Given the description of an element on the screen output the (x, y) to click on. 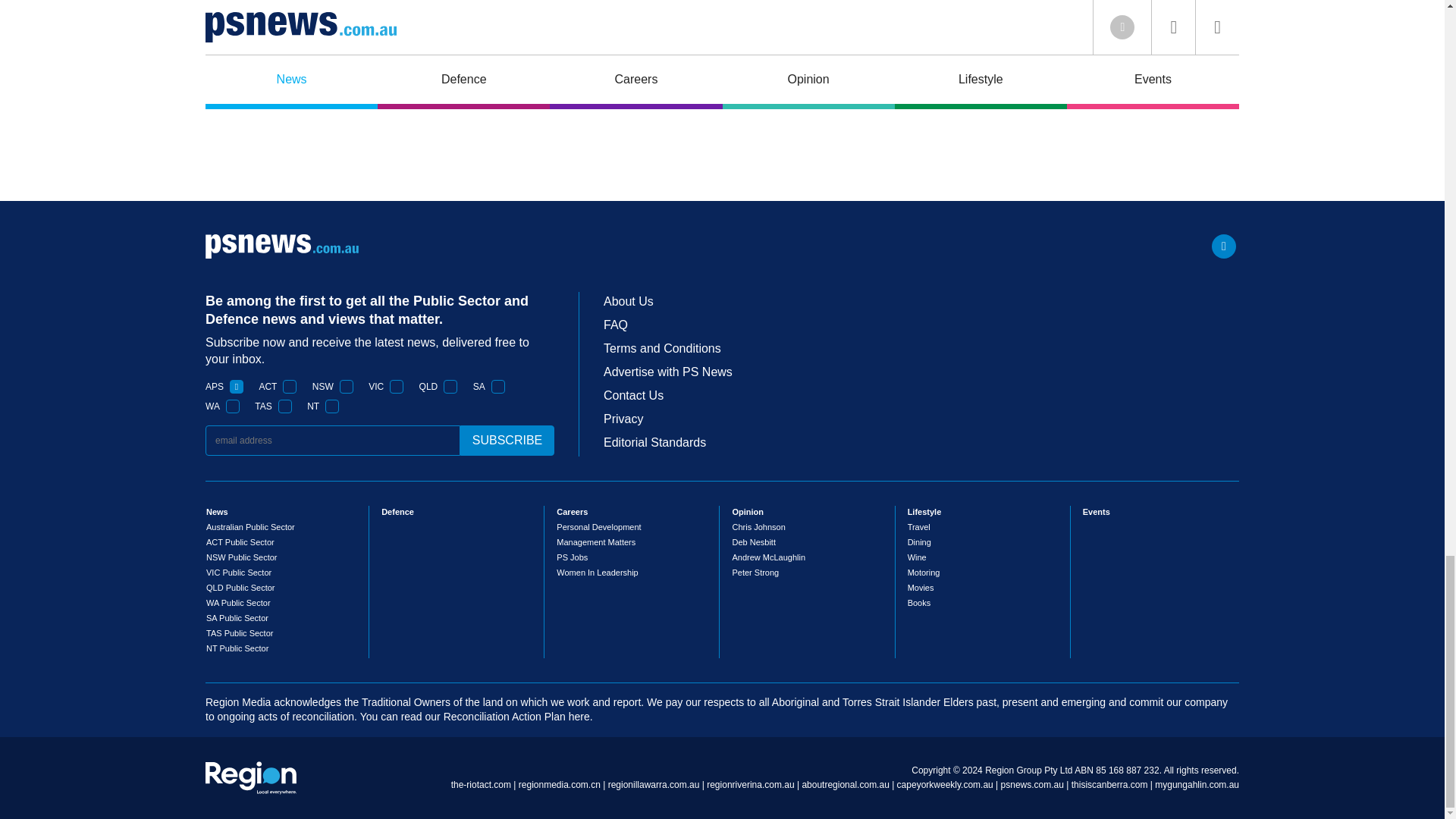
LinkedIn (1223, 246)
1 (331, 406)
1 (450, 386)
1 (498, 386)
1 (346, 386)
1 (236, 386)
1 (289, 386)
subscribe (507, 440)
1 (285, 406)
1 (396, 386)
